Given the description of an element on the screen output the (x, y) to click on. 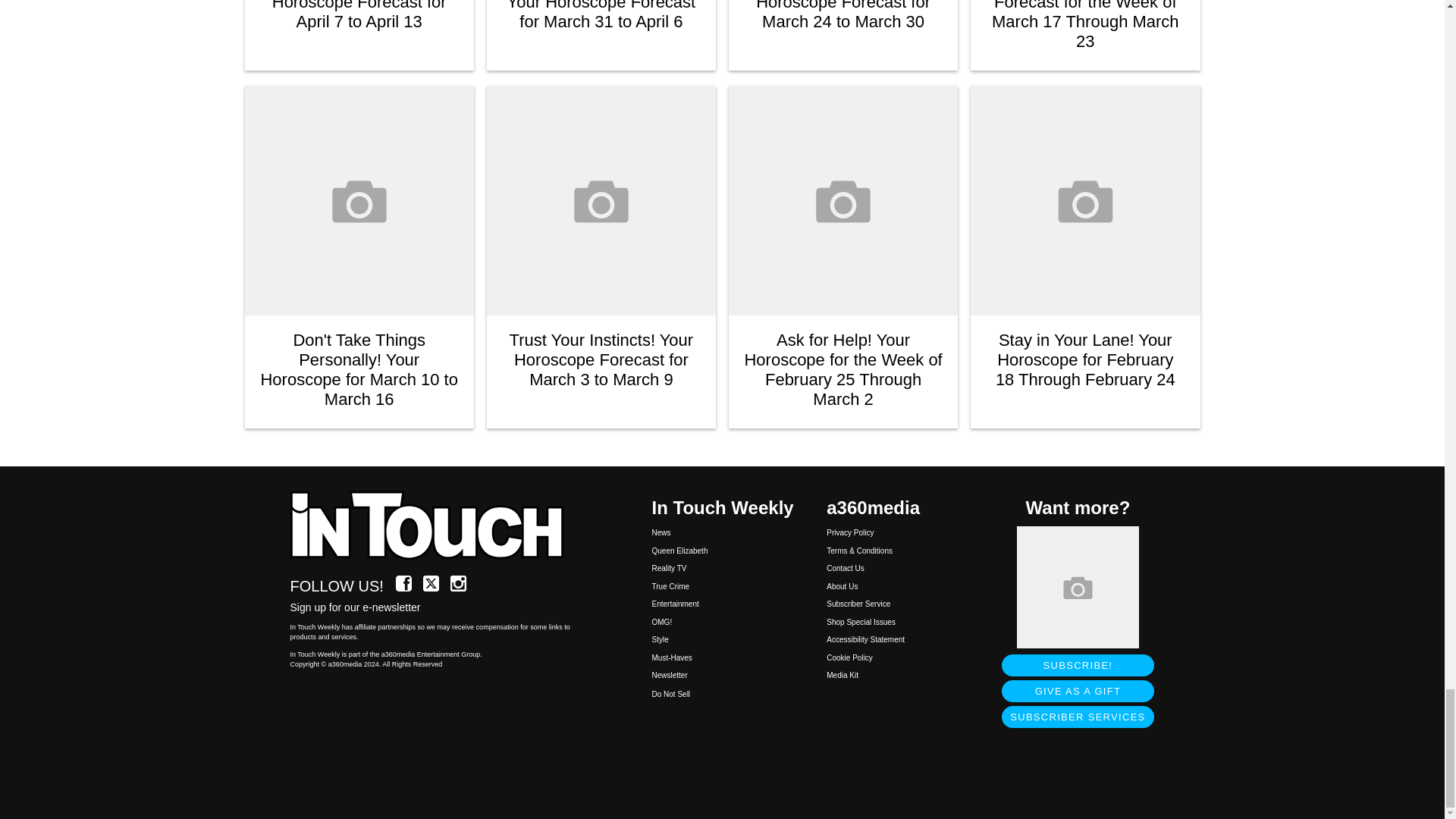
Home (434, 526)
